Given the description of an element on the screen output the (x, y) to click on. 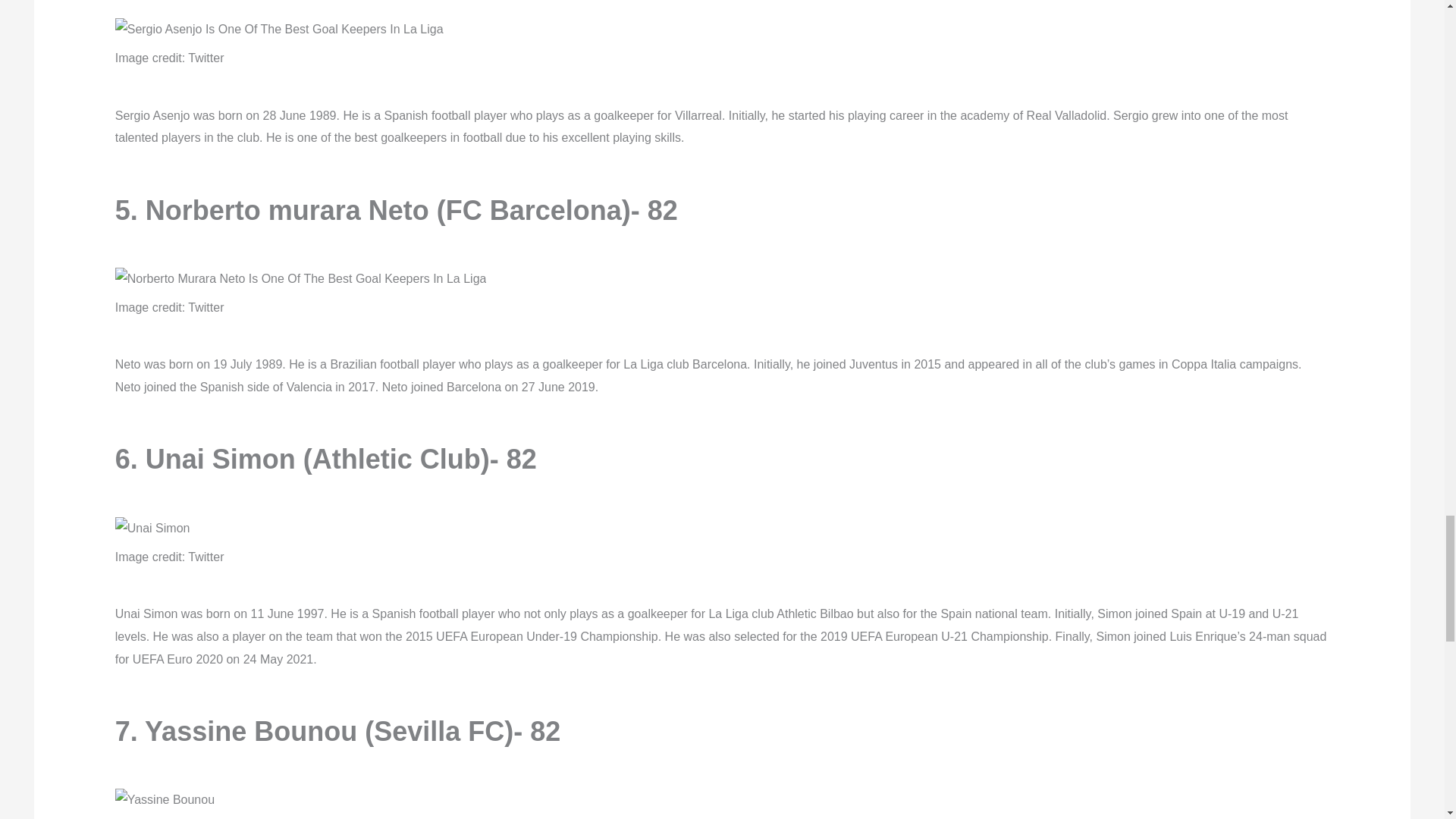
Yassine Bounou (164, 799)
Sergio Asenjo Is One Of The Best Goal Keepers In La Liga (279, 29)
Unai Simon (152, 527)
